Given the description of an element on the screen output the (x, y) to click on. 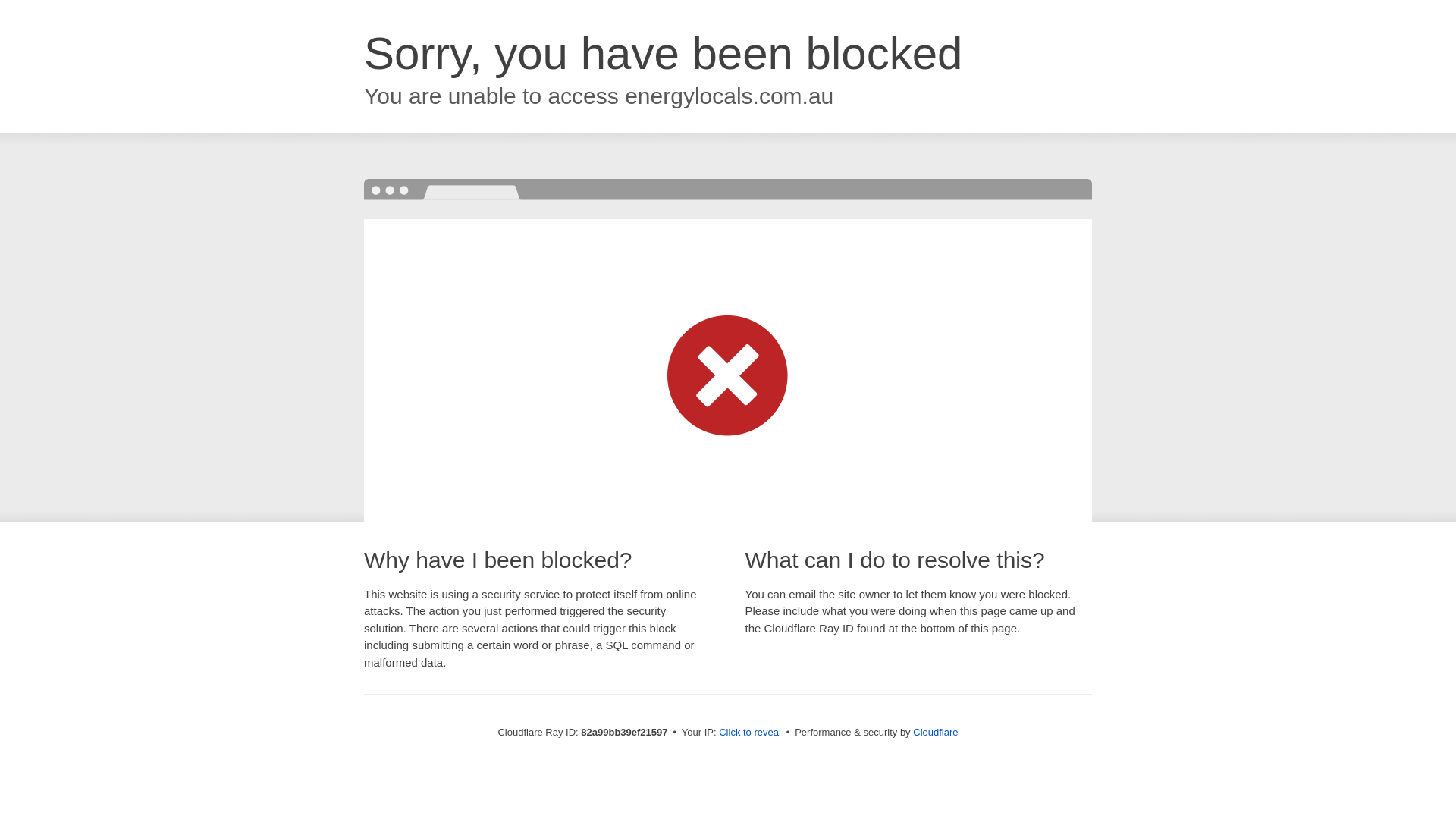
Cloudflare Element type: text (935, 731)
Click to reveal Element type: text (749, 732)
